Given the description of an element on the screen output the (x, y) to click on. 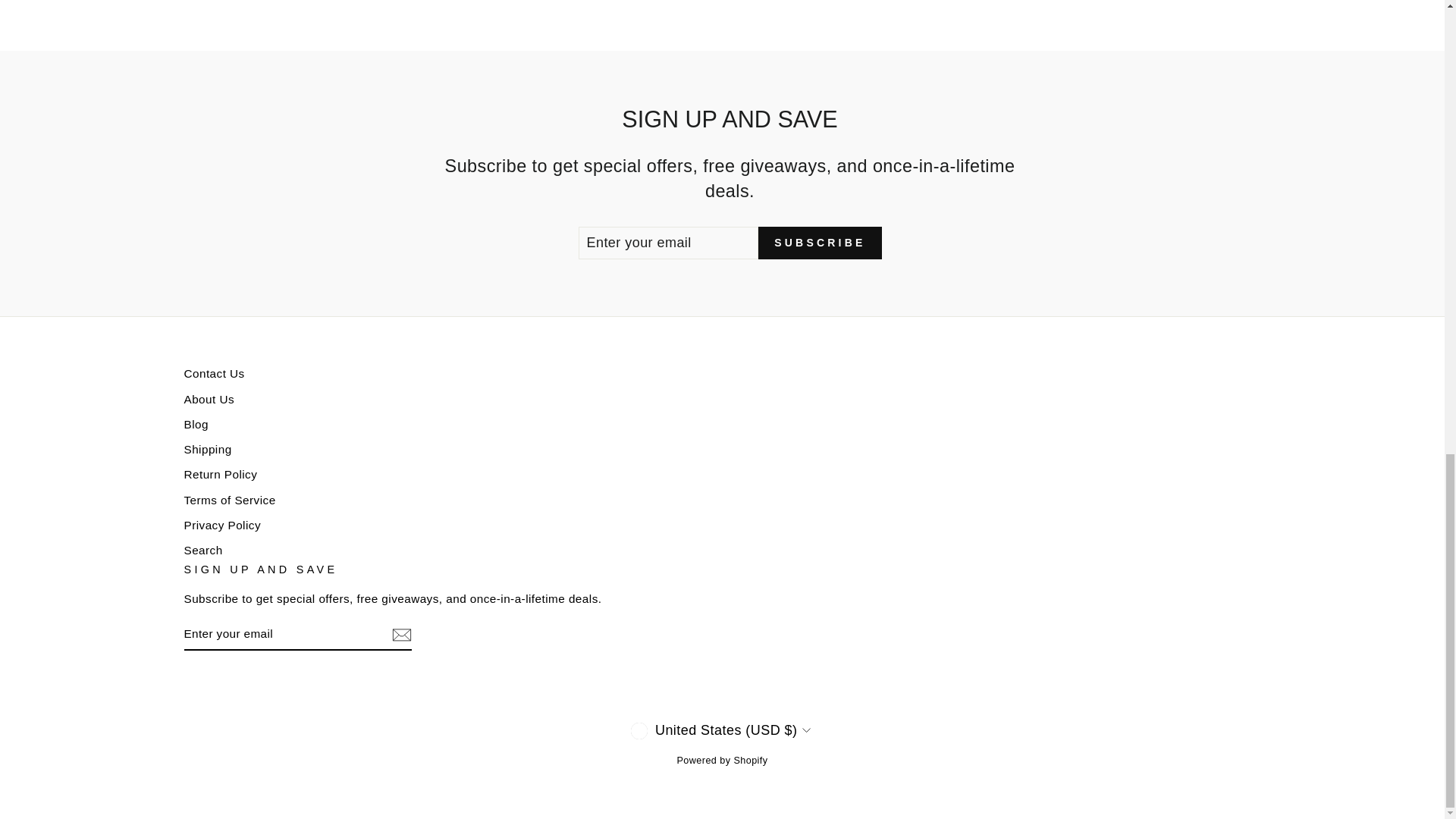
icon-email (400, 634)
